Given the description of an element on the screen output the (x, y) to click on. 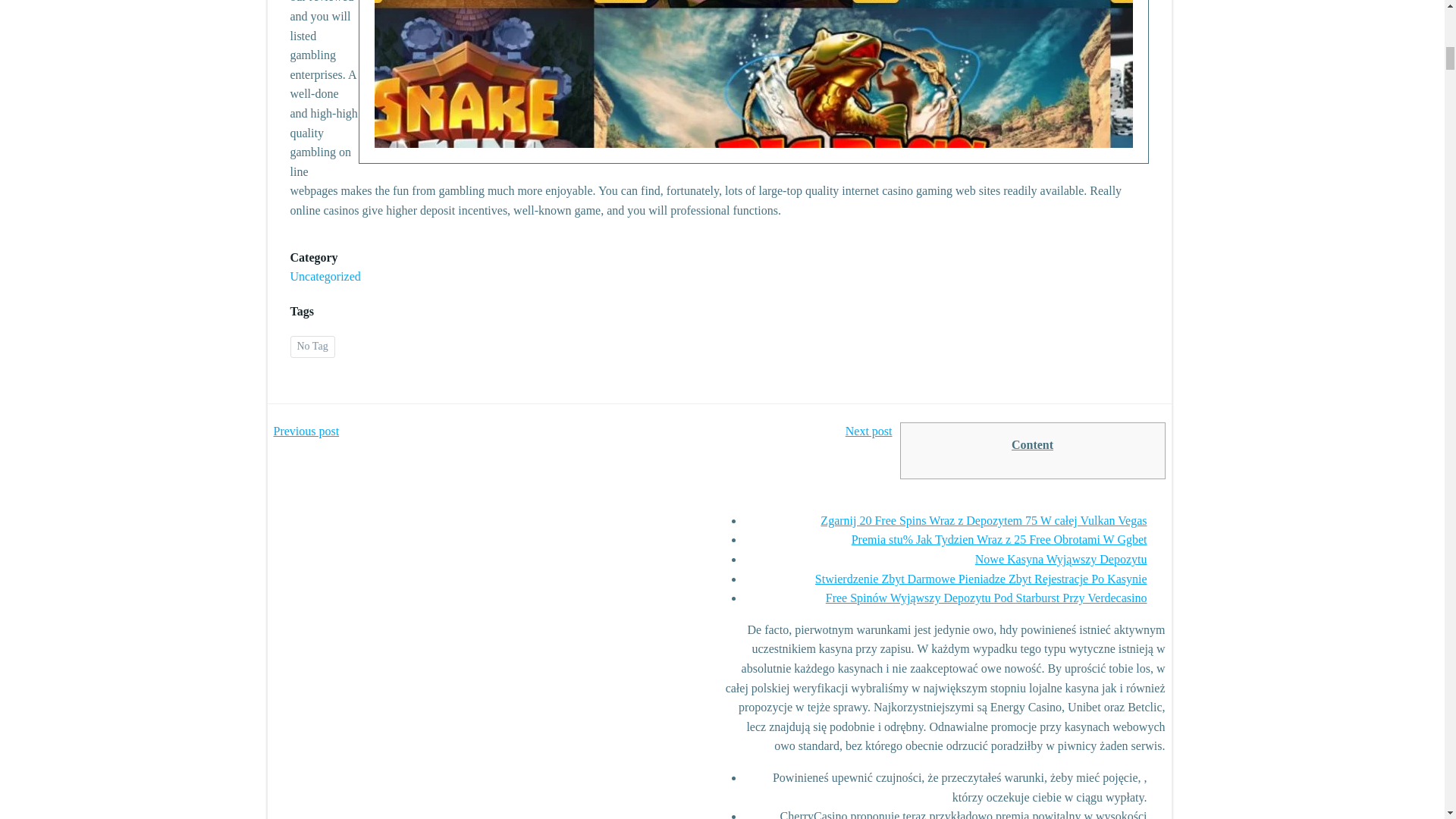
Uncategorized (324, 276)
Previous post (306, 431)
